Given the description of an element on the screen output the (x, y) to click on. 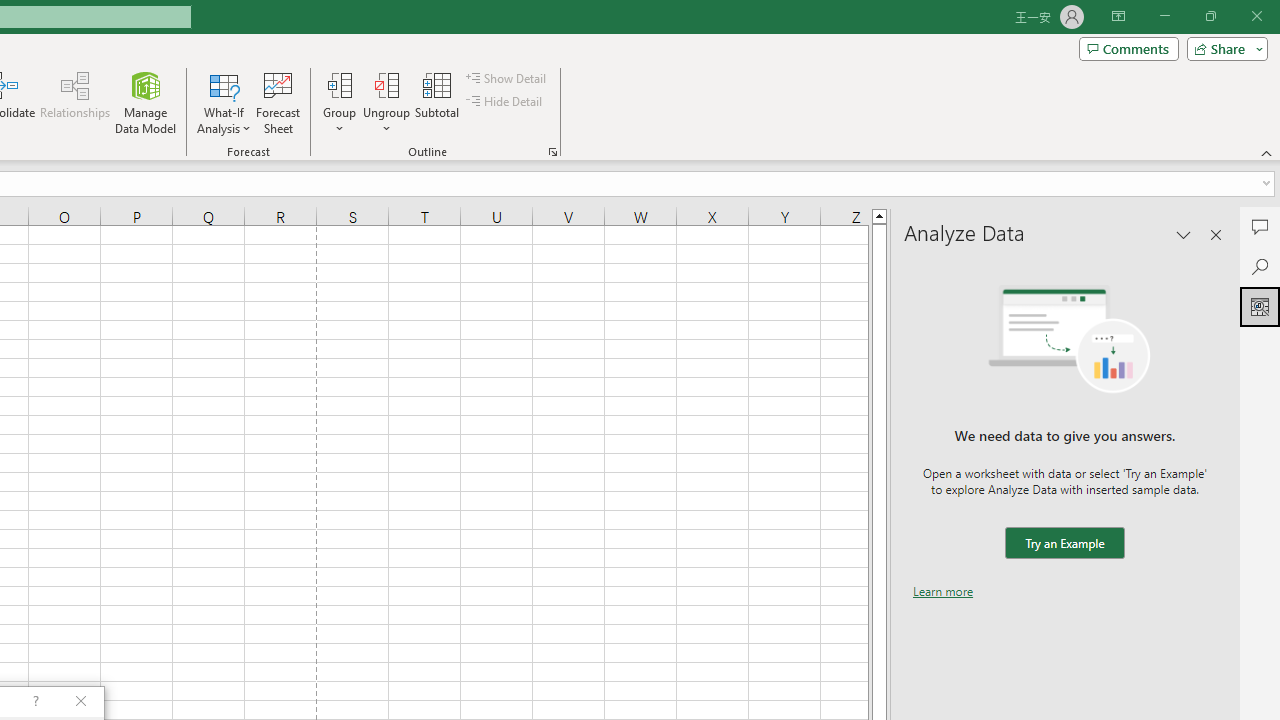
Subtotal (437, 102)
Manage Data Model (145, 102)
What-If Analysis (223, 102)
We need data to give you answers. Try an Example (1064, 543)
